Given the description of an element on the screen output the (x, y) to click on. 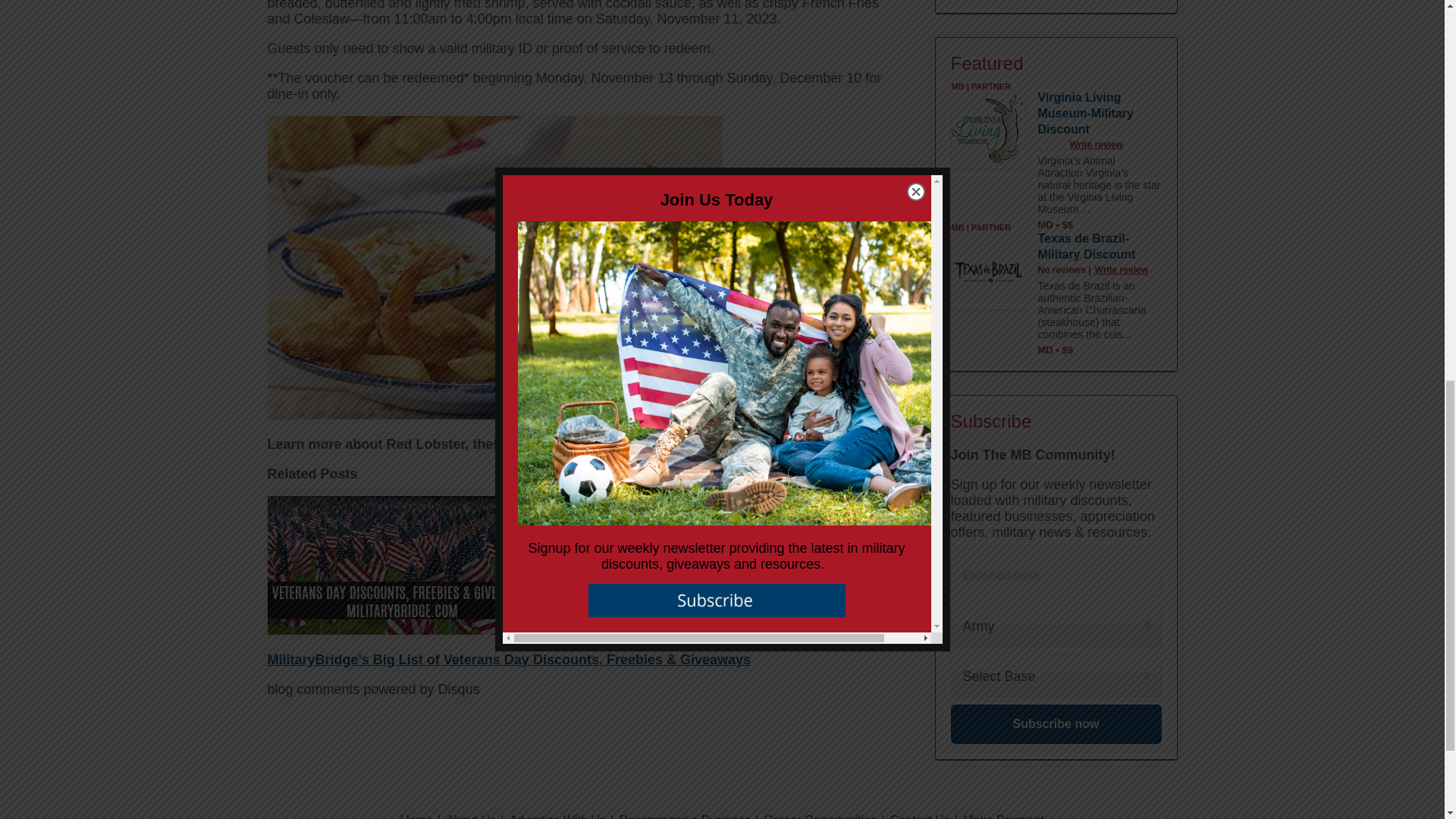
Subscribe now (1055, 723)
here (652, 444)
